Given the description of an element on the screen output the (x, y) to click on. 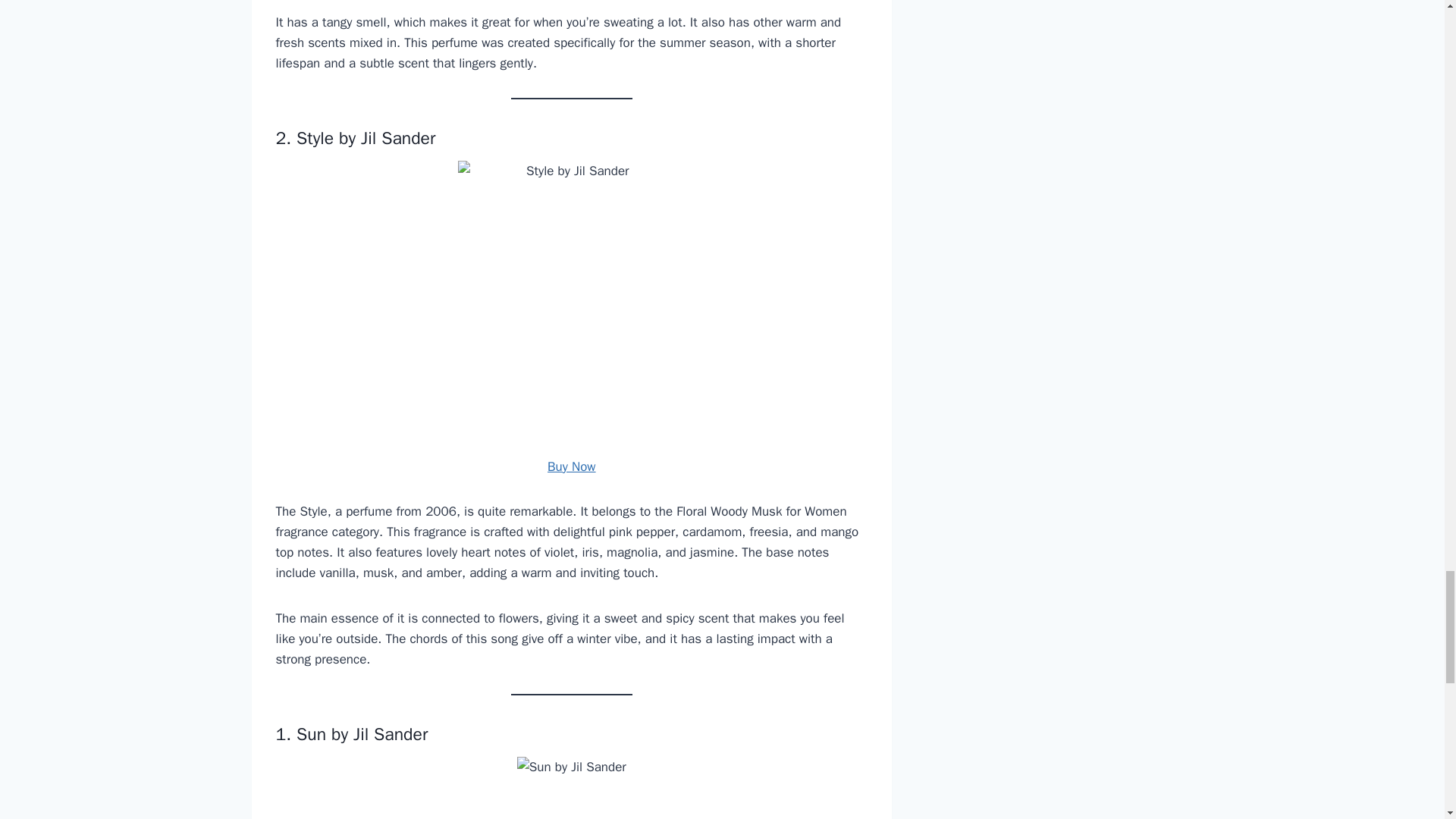
Buy Now (571, 466)
